Given the description of an element on the screen output the (x, y) to click on. 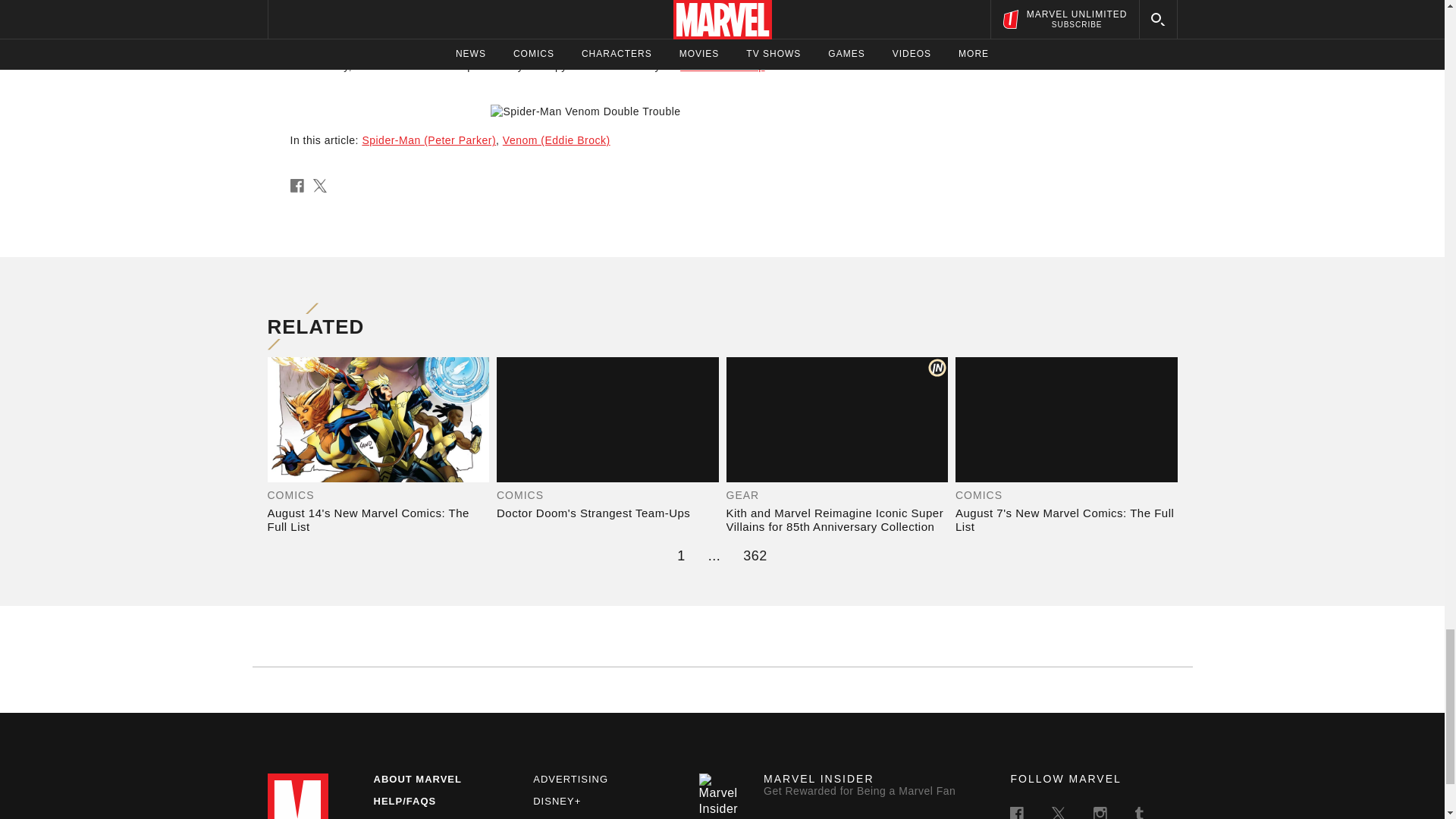
August 14's New Marvel Comics: The Full List (377, 519)
August 7's New Marvel Comics: The Full List (1066, 519)
Doctor Doom's Strangest Team-Ups (607, 513)
local comic shop (722, 65)
